Given the description of an element on the screen output the (x, y) to click on. 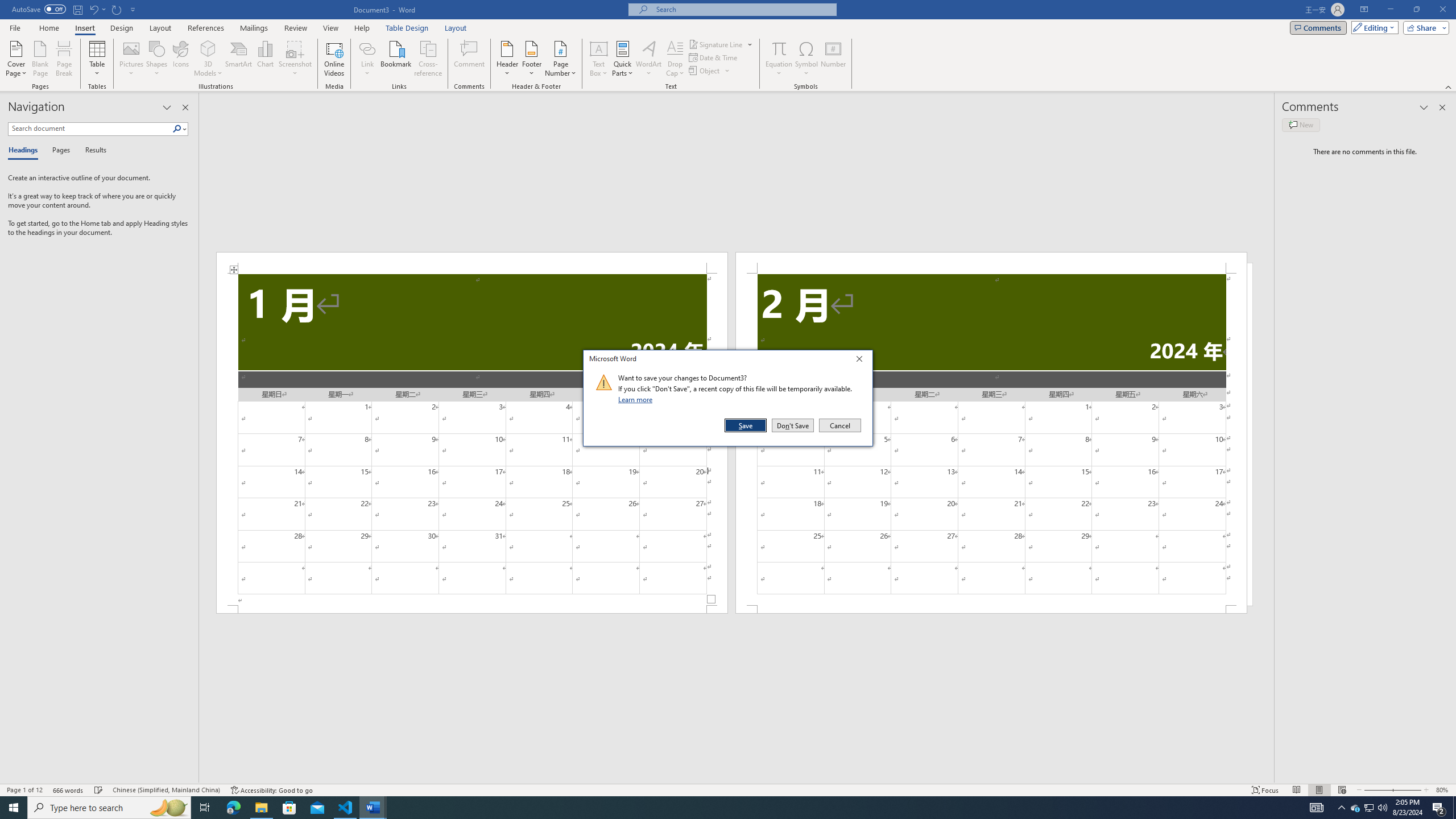
Number... (833, 58)
Object... (705, 69)
Shapes (156, 58)
Word - 2 running windows (373, 807)
